Given the description of an element on the screen output the (x, y) to click on. 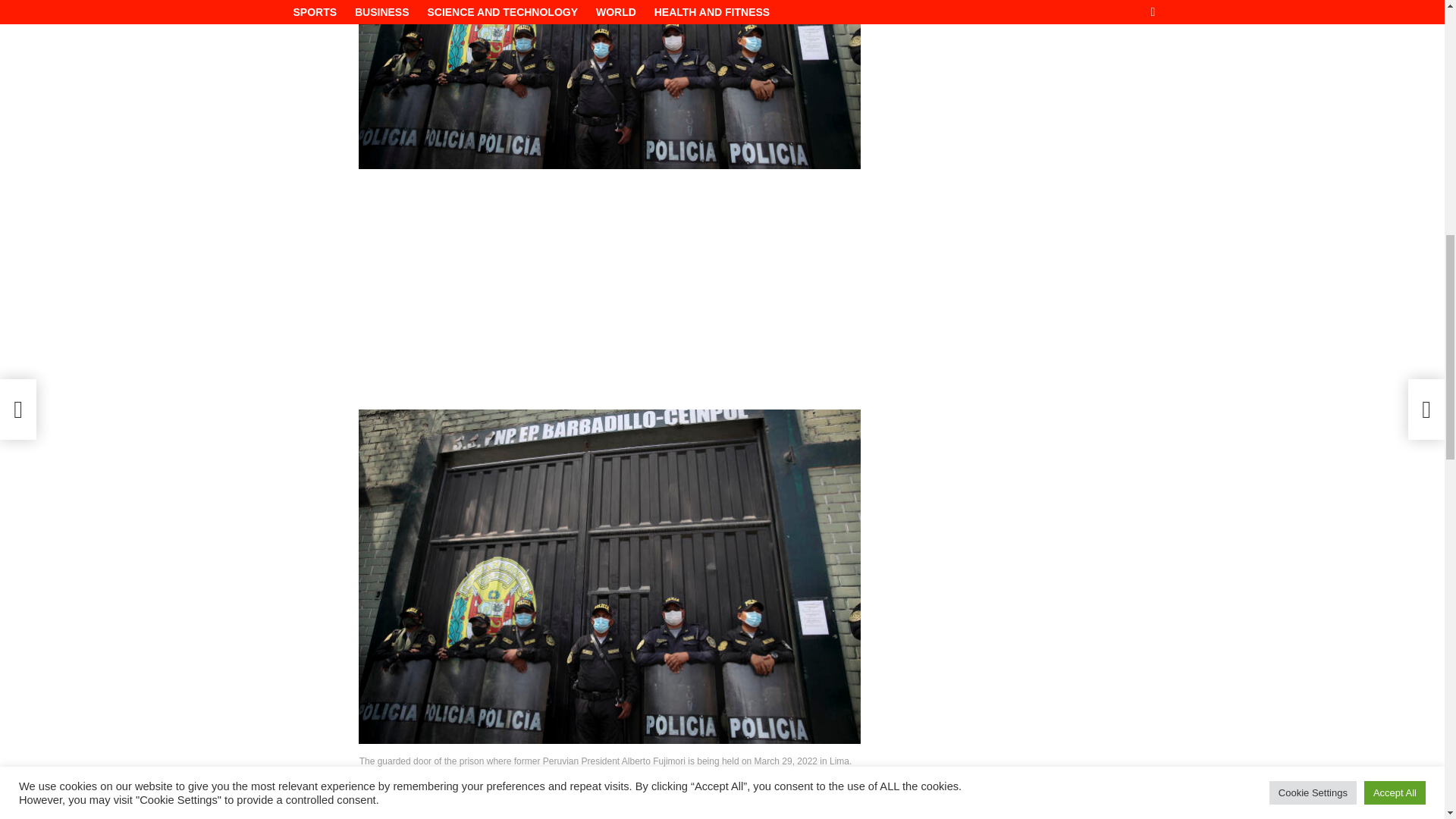
Alberto Fujimori remains in prison in Peru (609, 84)
Advertisement (609, 287)
Advertisement (1026, 92)
